Given the description of an element on the screen output the (x, y) to click on. 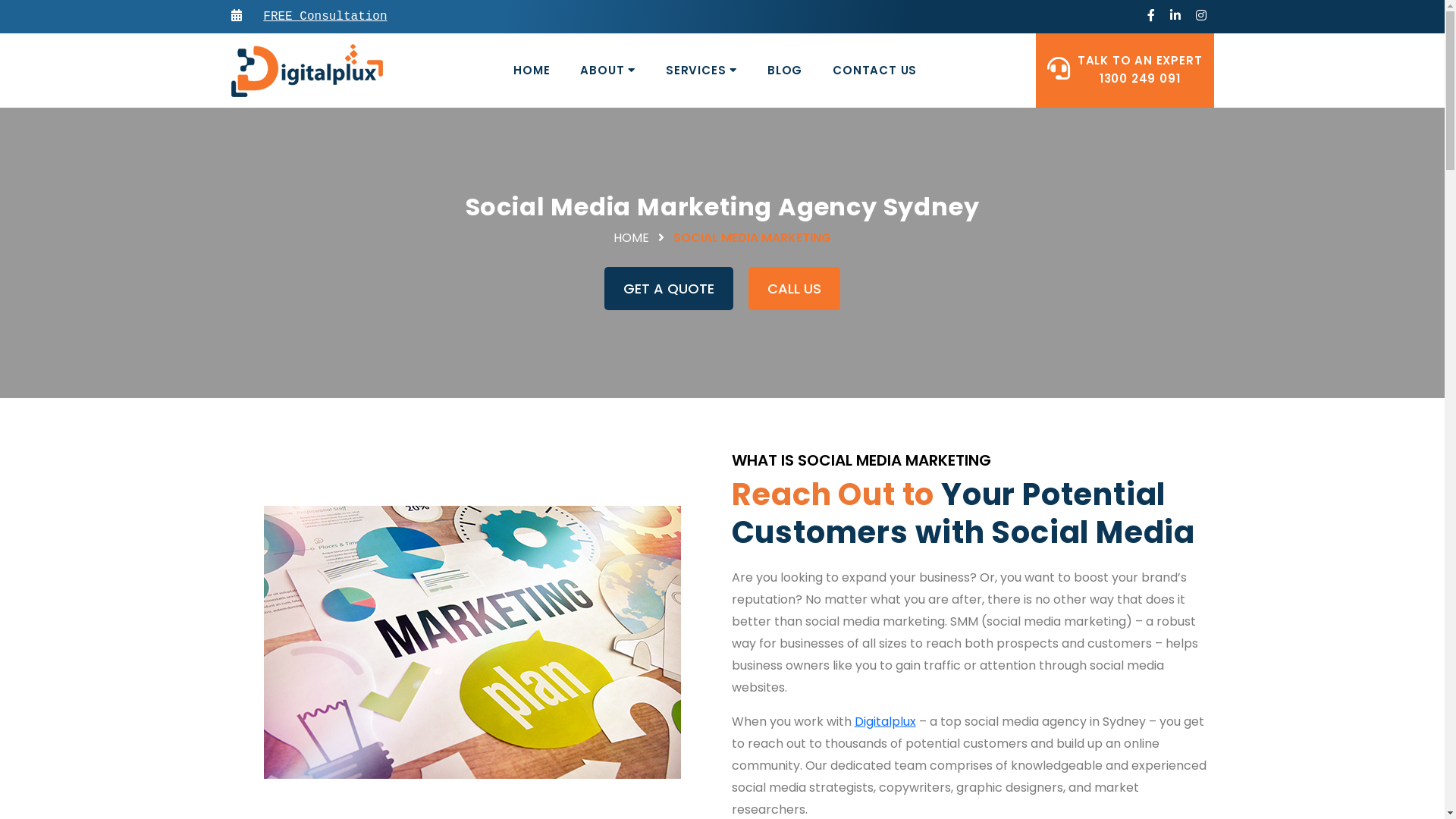
CALL US Element type: text (794, 288)
Digitalplux Element type: text (884, 721)
GET A QUOTE Element type: text (668, 288)
TALK TO AN EXPERT
1300 249 091 Element type: text (1139, 69)
BLOG Element type: text (784, 70)
HOME Element type: text (632, 237)
Digitalplux Element type: hover (306, 70)
FREE Consultation Element type: text (324, 16)
CONTACT US Element type: text (874, 70)
SERVICES Element type: text (701, 70)
HOME Element type: text (531, 70)
ABOUT Element type: text (607, 70)
